Given the description of an element on the screen output the (x, y) to click on. 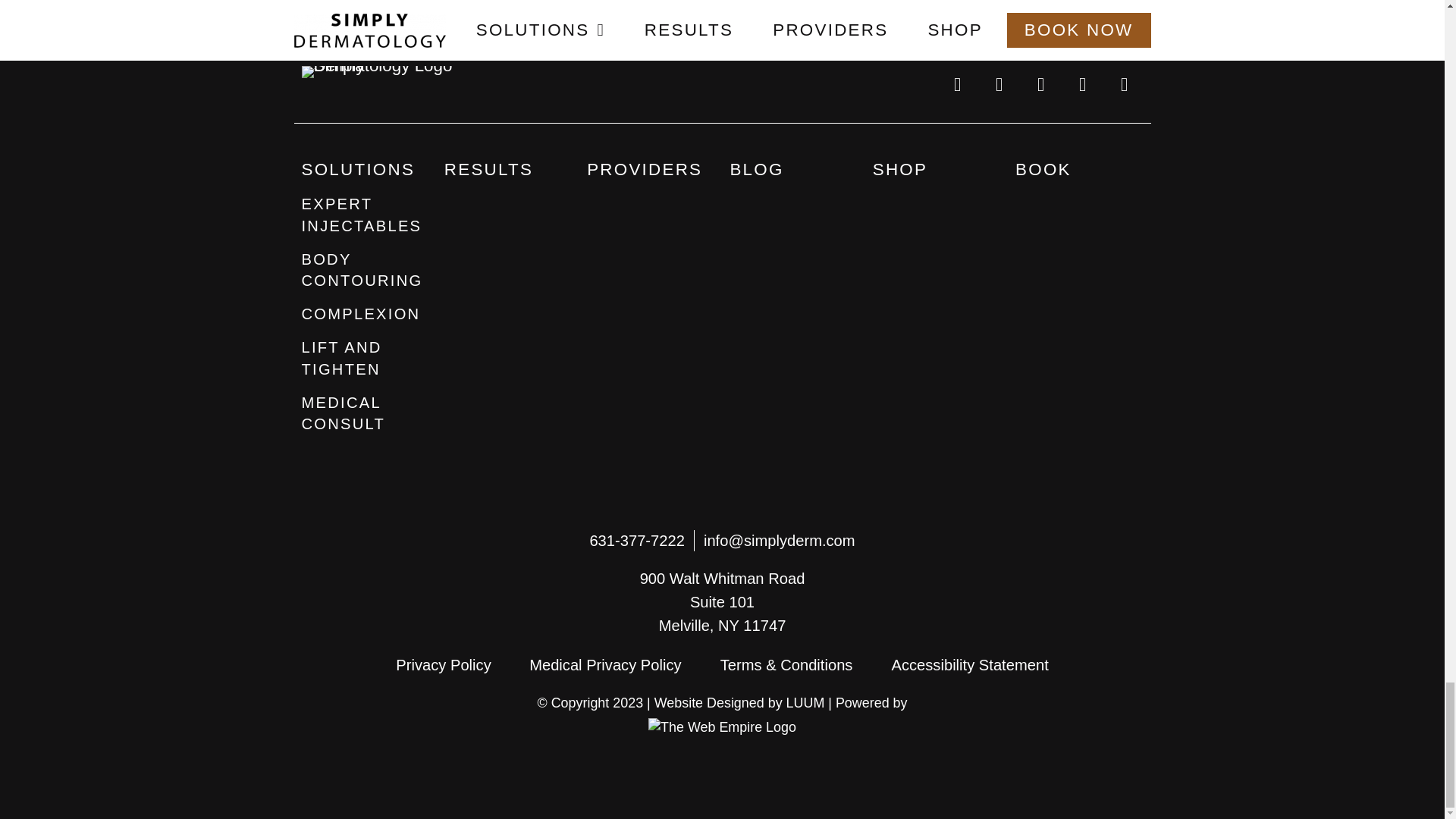
Website Designed in NY by The Web Empire (721, 726)
